Given the description of an element on the screen output the (x, y) to click on. 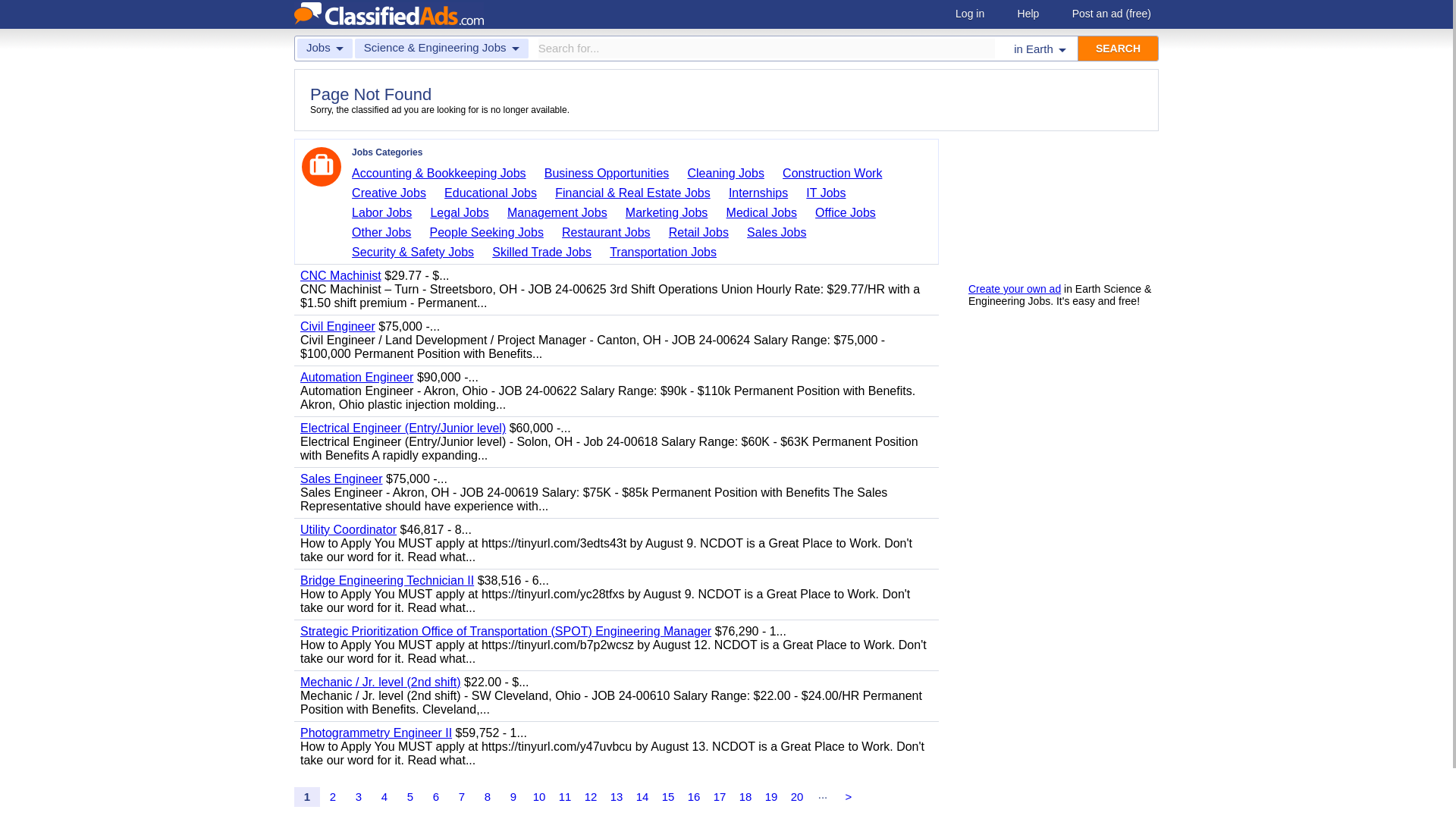
Log in (969, 14)
SEARCH (1117, 48)
Help (1028, 14)
SEARCH (1117, 48)
